Given the description of an element on the screen output the (x, y) to click on. 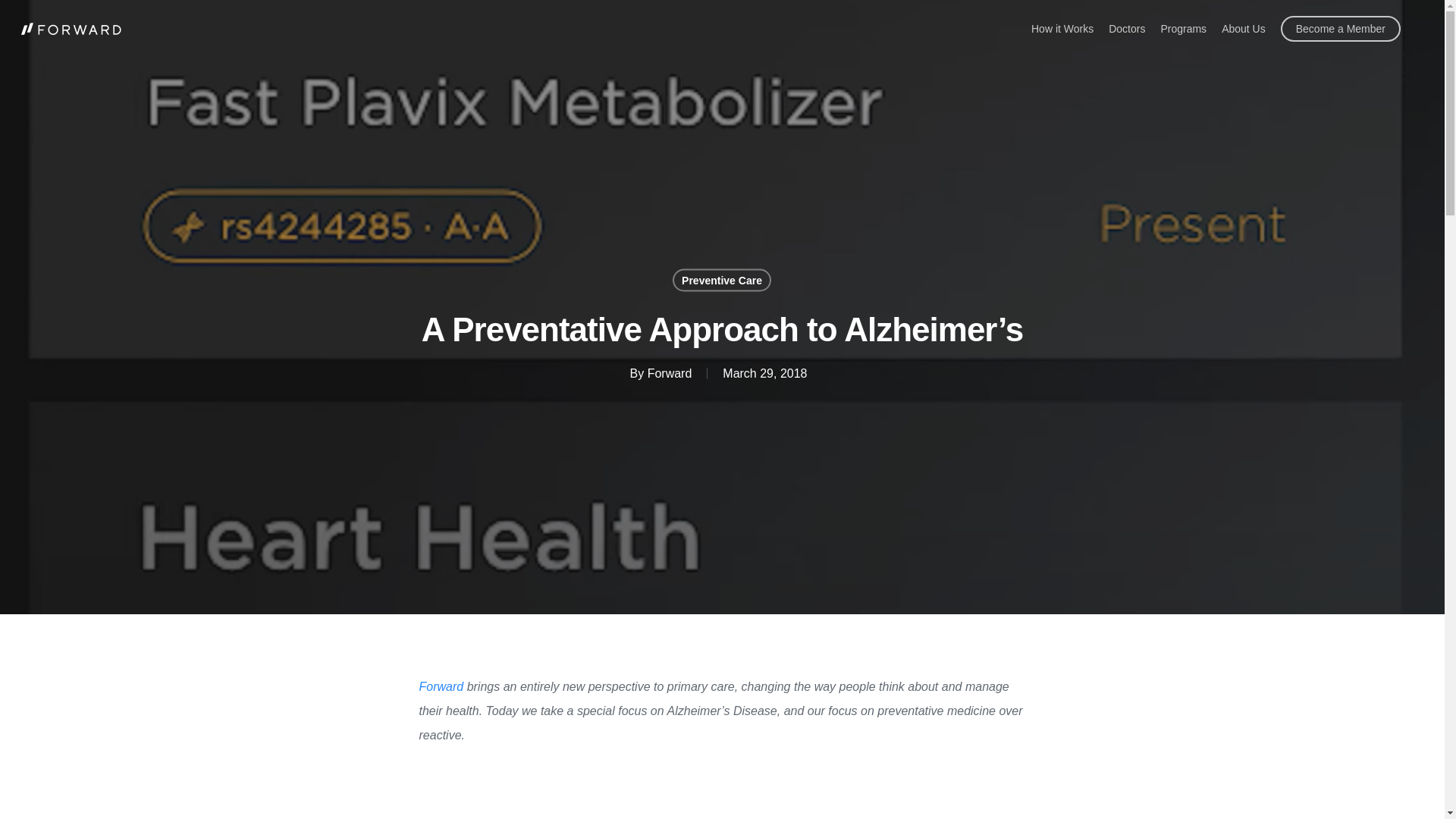
Programs (1183, 28)
Become a Member (1340, 28)
Posts by Forward (670, 373)
How it Works (1061, 28)
Genetics at Forward (722, 792)
About Us (1243, 28)
Doctors (1126, 28)
